Given the description of an element on the screen output the (x, y) to click on. 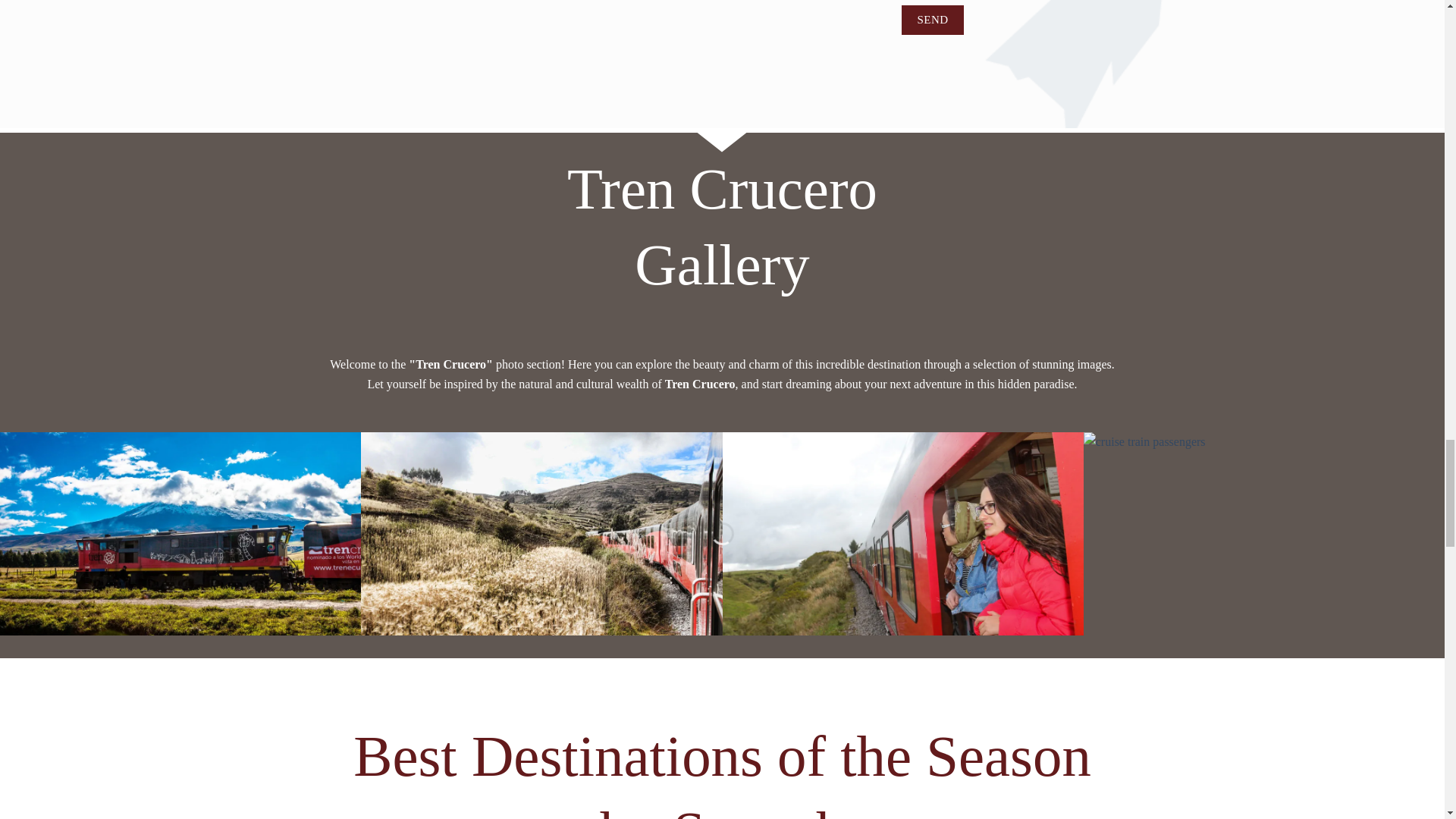
cruise train passenger landscape (902, 533)
cruise train landscape (541, 533)
cruise train (180, 533)
